Given the description of an element on the screen output the (x, y) to click on. 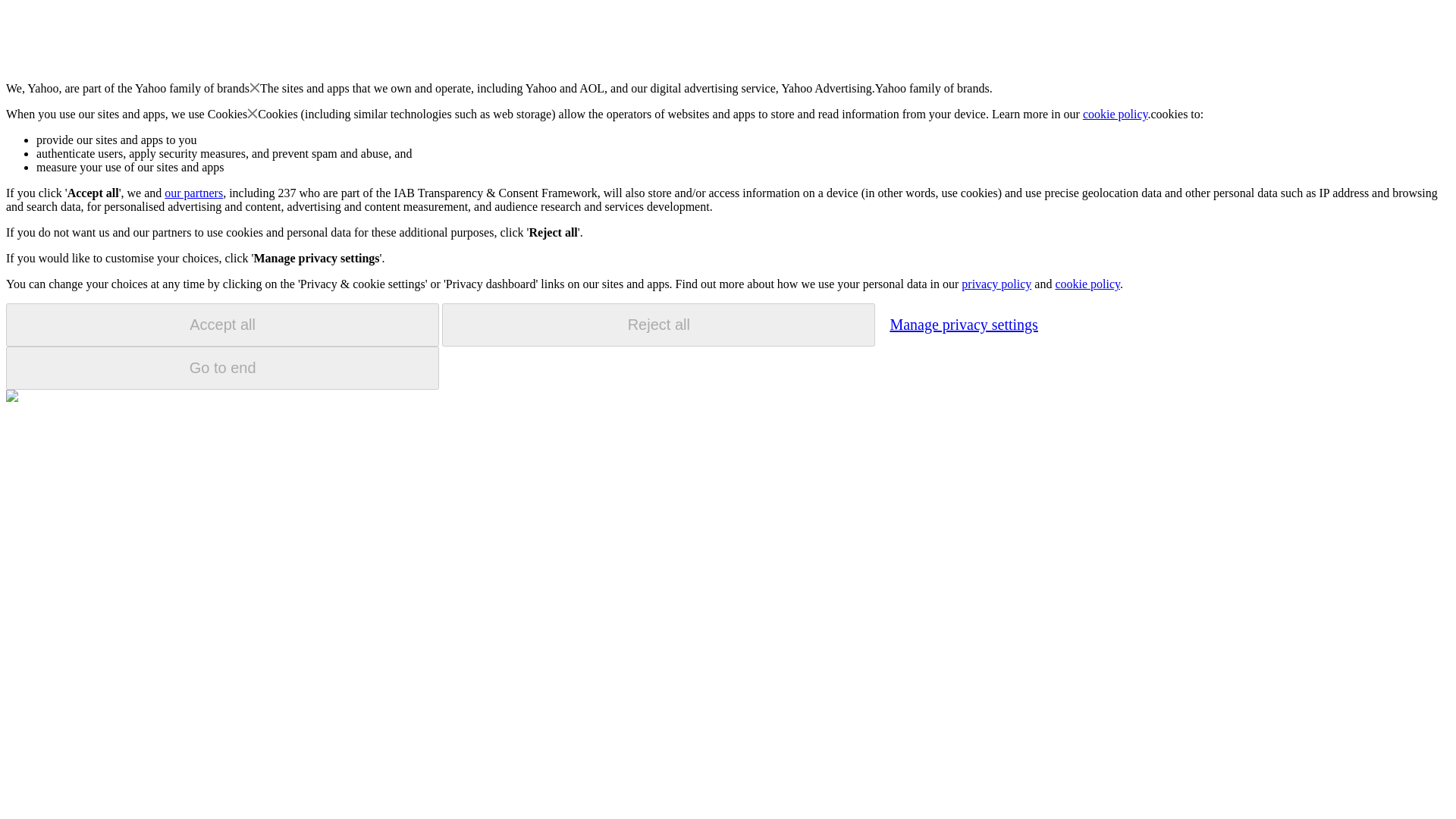
Accept all (222, 324)
Reject all (658, 324)
Go to end (222, 367)
cookie policy (1086, 283)
privacy policy (995, 283)
cookie policy (1115, 113)
our partners (193, 192)
Manage privacy settings (963, 323)
